Given the description of an element on the screen output the (x, y) to click on. 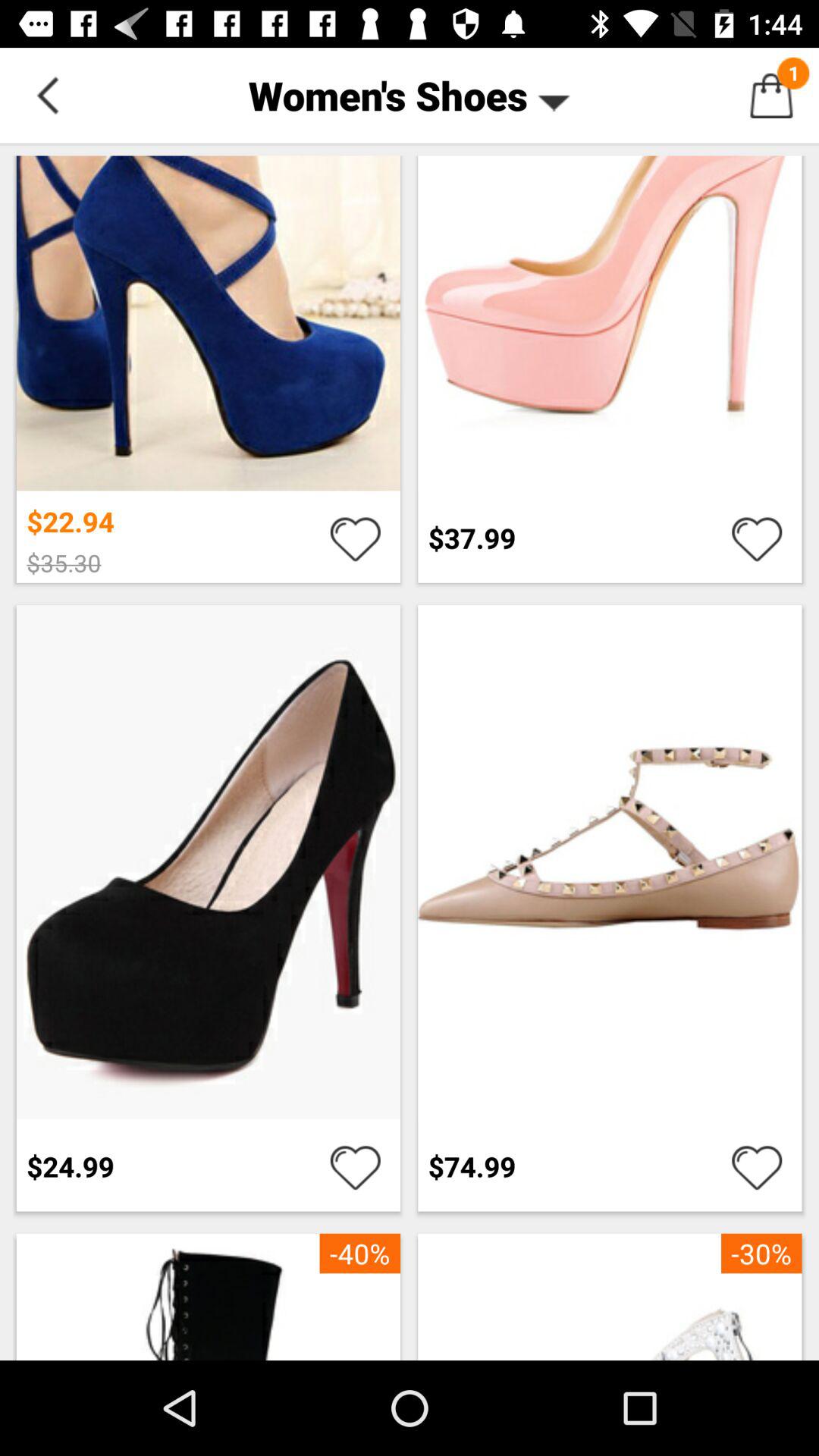
like (355, 537)
